Given the description of an element on the screen output the (x, y) to click on. 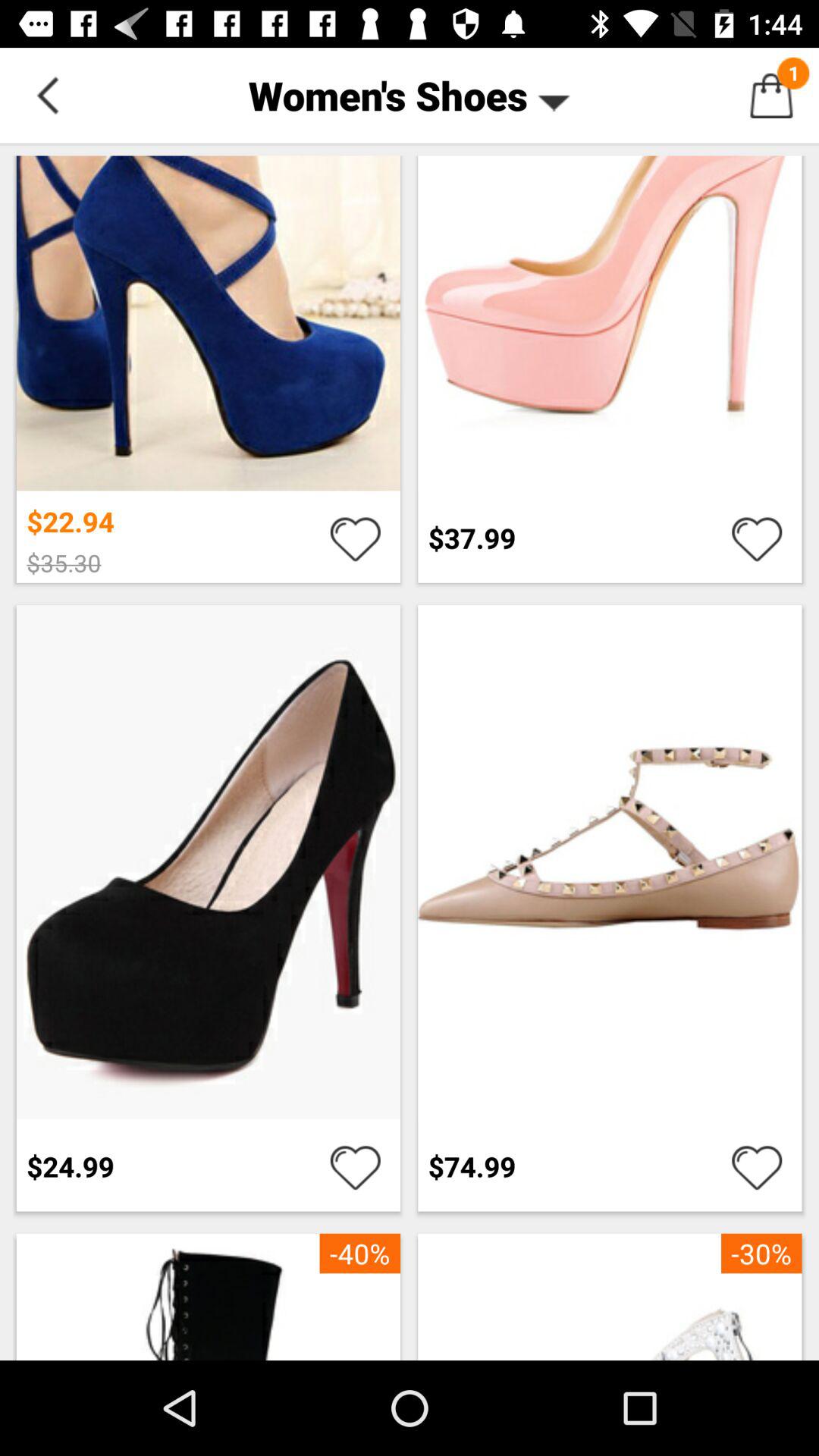
like (355, 537)
